Given the description of an element on the screen output the (x, y) to click on. 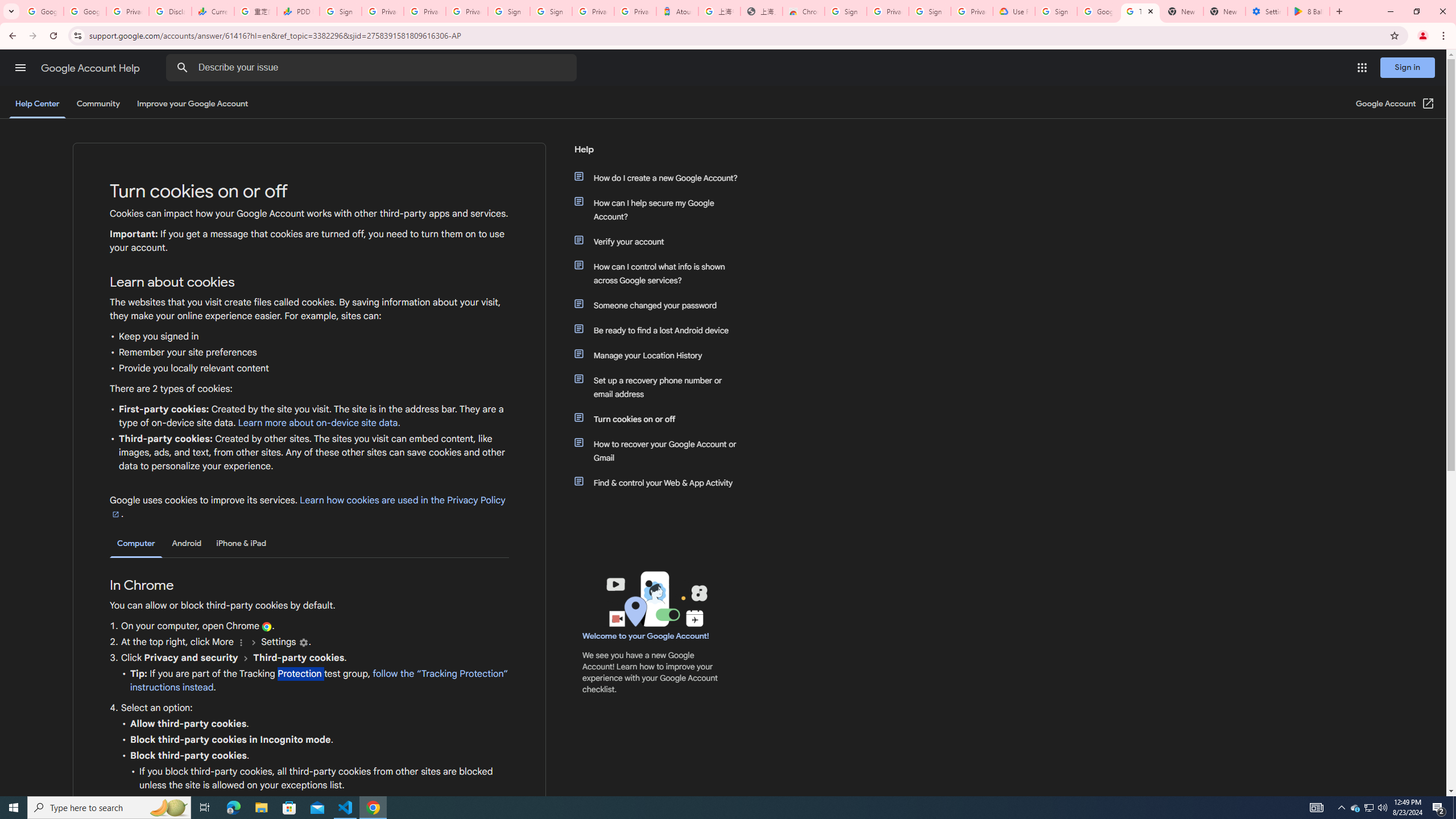
Atour Hotel - Google hotels (676, 11)
Search Help Center (181, 67)
How can I help secure my Google Account? (661, 209)
Manage your Location History (661, 355)
PDD Holdings Inc - ADR (PDD) Price & News - Google Finance (298, 11)
Learn how cookies are used in the Privacy Policy (307, 507)
New Tab (1224, 11)
Sign in - Google Accounts (340, 11)
Welcome to your Google Account! (645, 635)
